Given the description of an element on the screen output the (x, y) to click on. 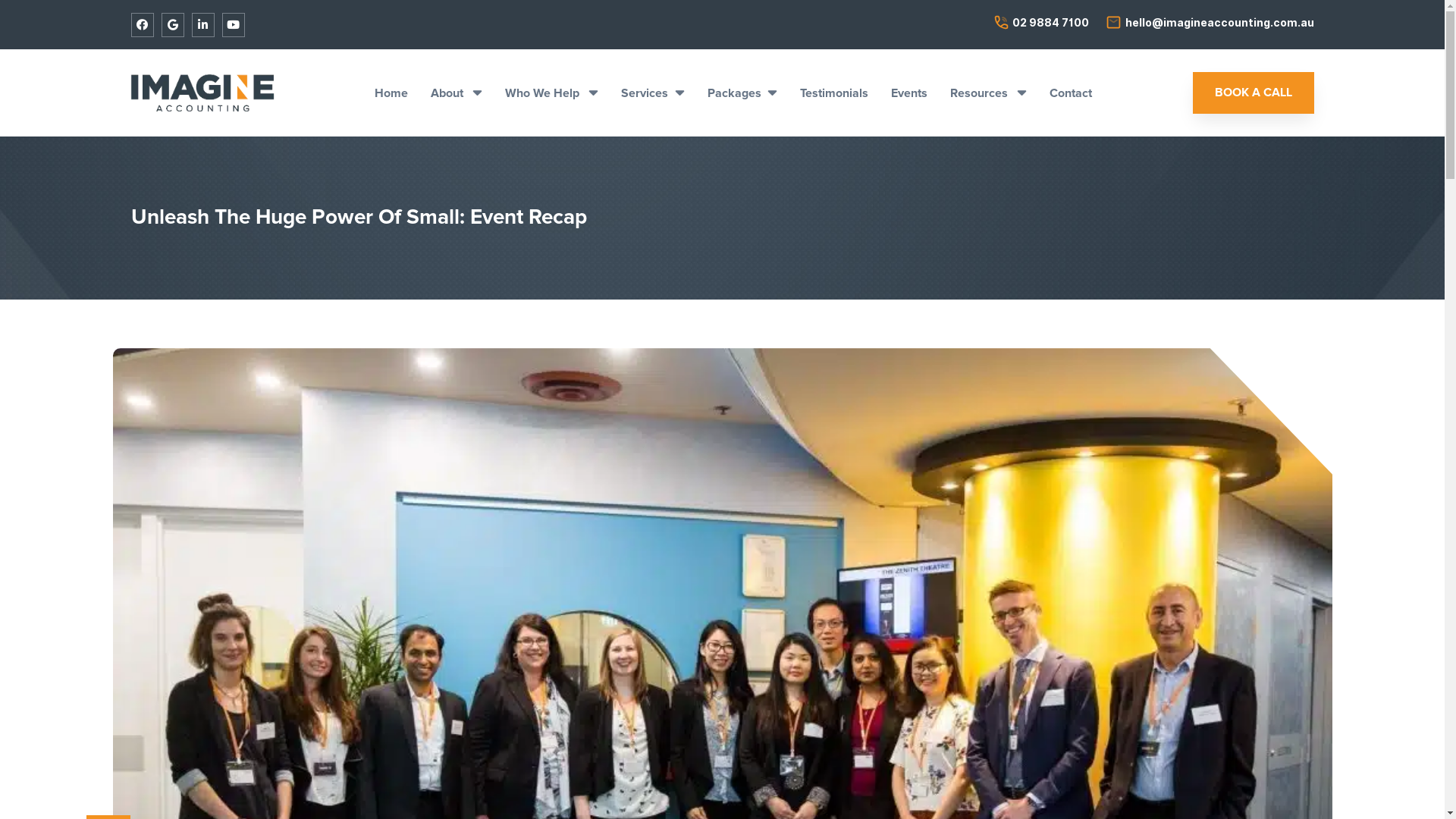
Facebook Element type: hover (141, 24)
hello@imagineaccounting.com.au Element type: text (1210, 22)
02 9884 7100 Element type: text (1041, 22)
LinkedIn Element type: hover (202, 24)
Resources Element type: text (988, 93)
Events Element type: text (908, 93)
Home Element type: text (391, 93)
Google Element type: hover (171, 24)
About Element type: text (456, 93)
BOOK A CALL Element type: text (1253, 93)
Who We Help Element type: text (551, 93)
YouTube Element type: hover (232, 24)
Packages Element type: text (742, 93)
Testimonials Element type: text (833, 93)
Services Element type: text (652, 93)
Contact Element type: text (1070, 93)
